Given the description of an element on the screen output the (x, y) to click on. 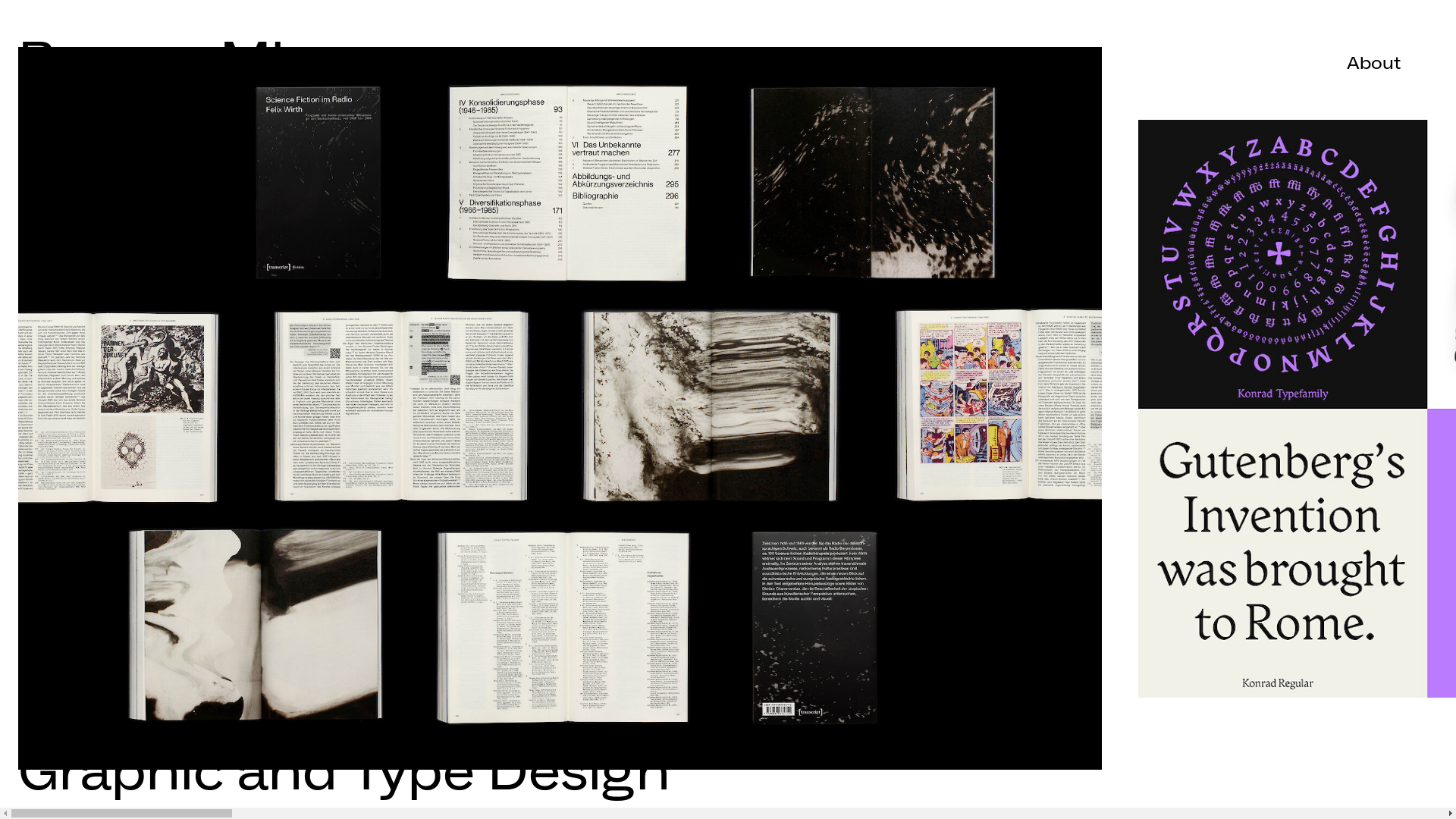
Bureau Mia Element type: text (167, 63)
About Element type: text (1373, 63)
